Given the description of an element on the screen output the (x, y) to click on. 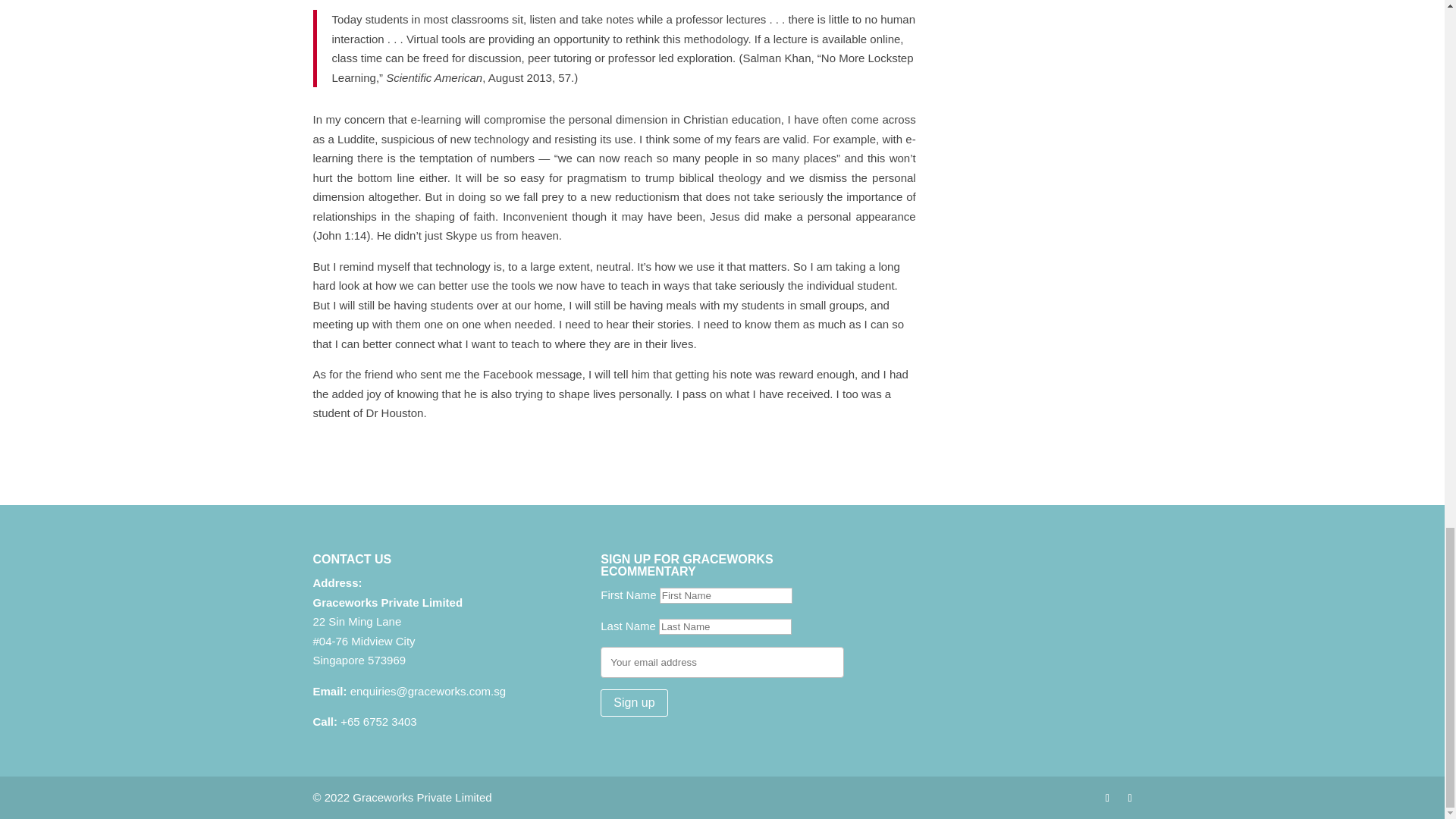
Sign up (632, 702)
Sign up (632, 702)
